Given the description of an element on the screen output the (x, y) to click on. 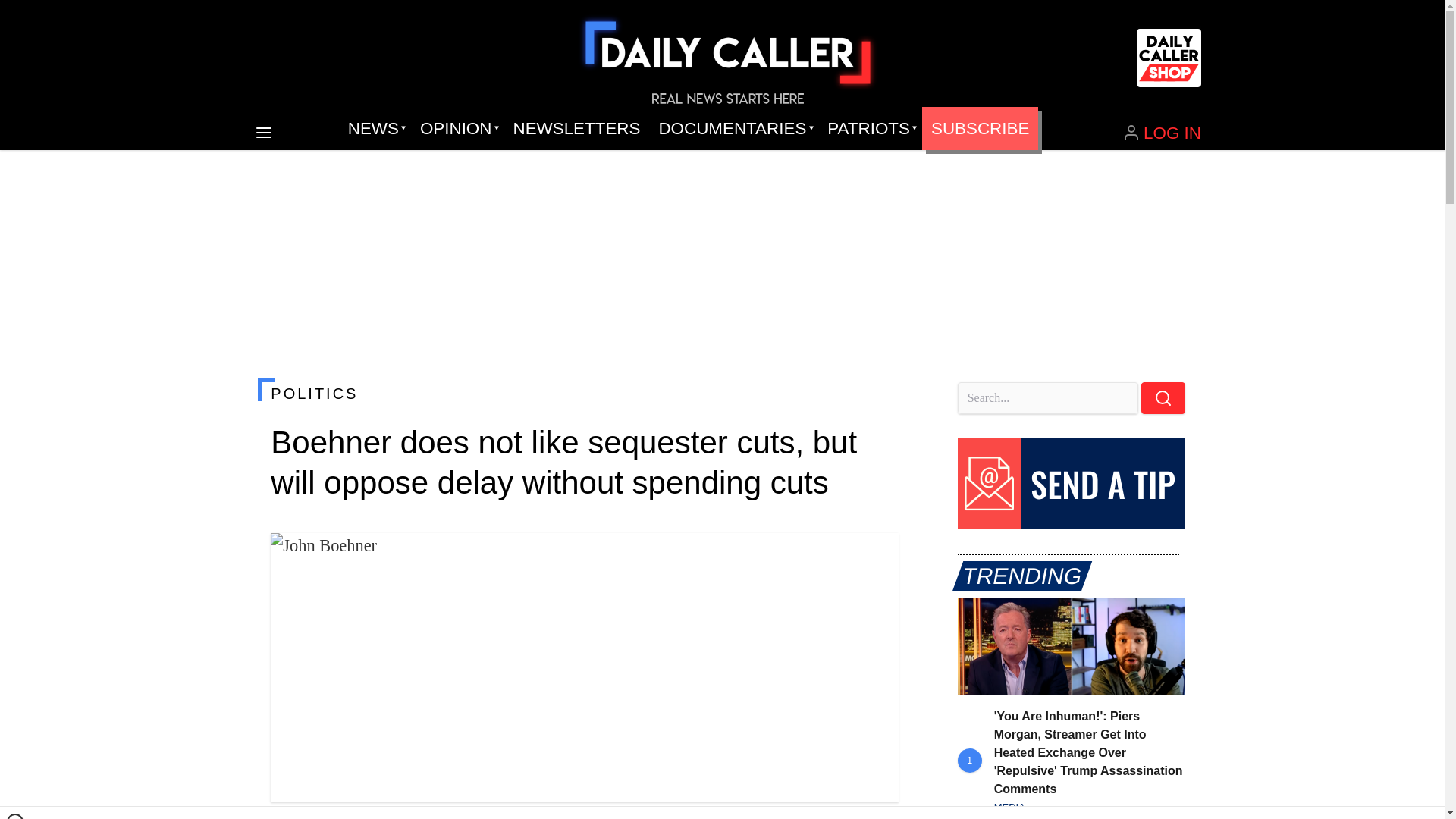
POLITICS (584, 393)
PATRIOTS (869, 128)
DOCUMENTARIES (733, 128)
Toggle fullscreen (874, 556)
NEWSLETTERS (576, 128)
Close window (14, 816)
NEWS (374, 128)
OPINION (456, 128)
SUBSCRIBE (979, 128)
